Given the description of an element on the screen output the (x, y) to click on. 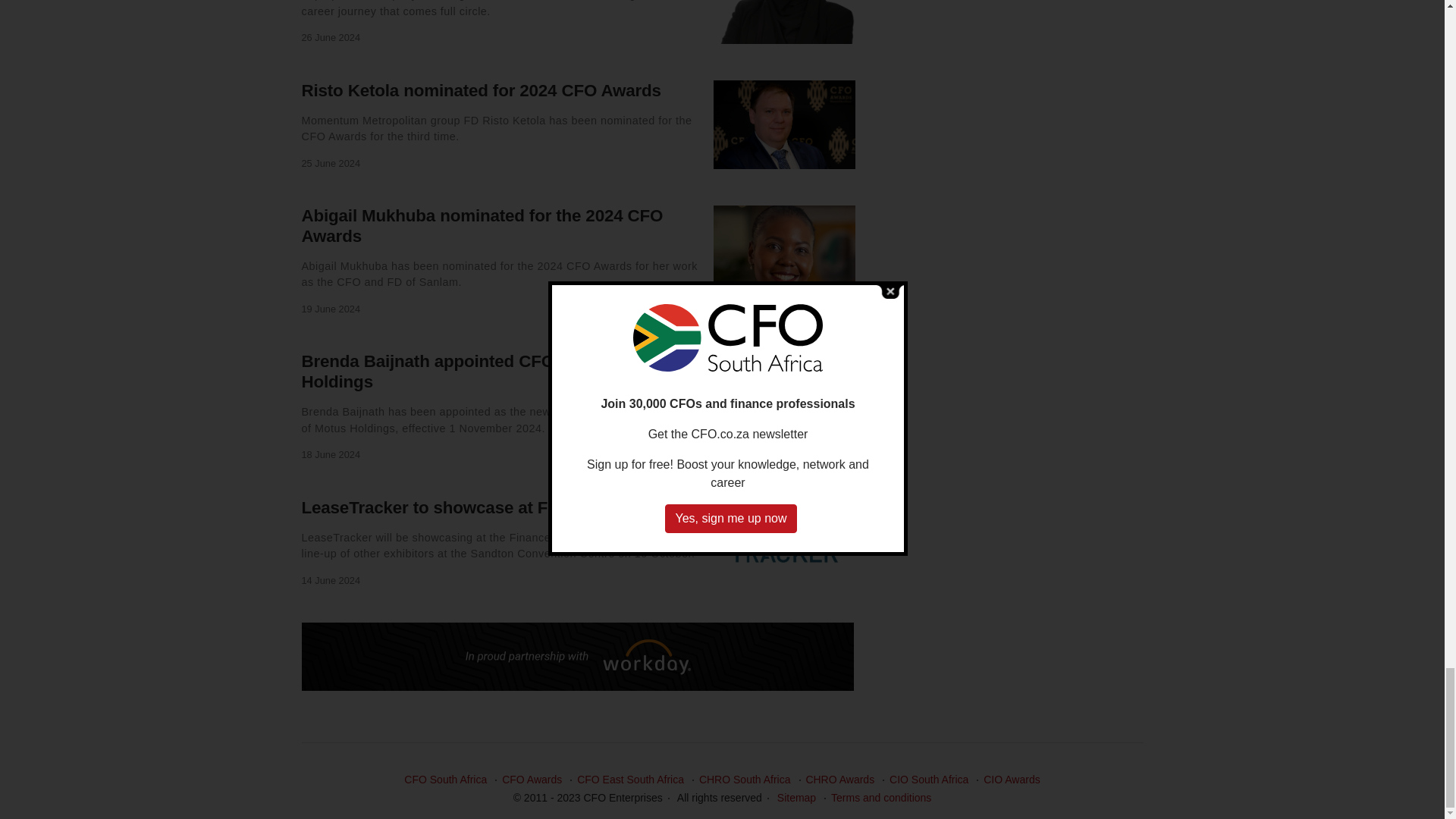
Brenda Baijnath appointed CFO of Motus Holdings (464, 371)
LeaseTracker to showcase at Finance Indaba (480, 506)
Risto Ketola nominated for 2024 CFO Awards (481, 90)
Abigail Mukhuba nominated for the 2024 CFO Awards (482, 225)
